Given the description of an element on the screen output the (x, y) to click on. 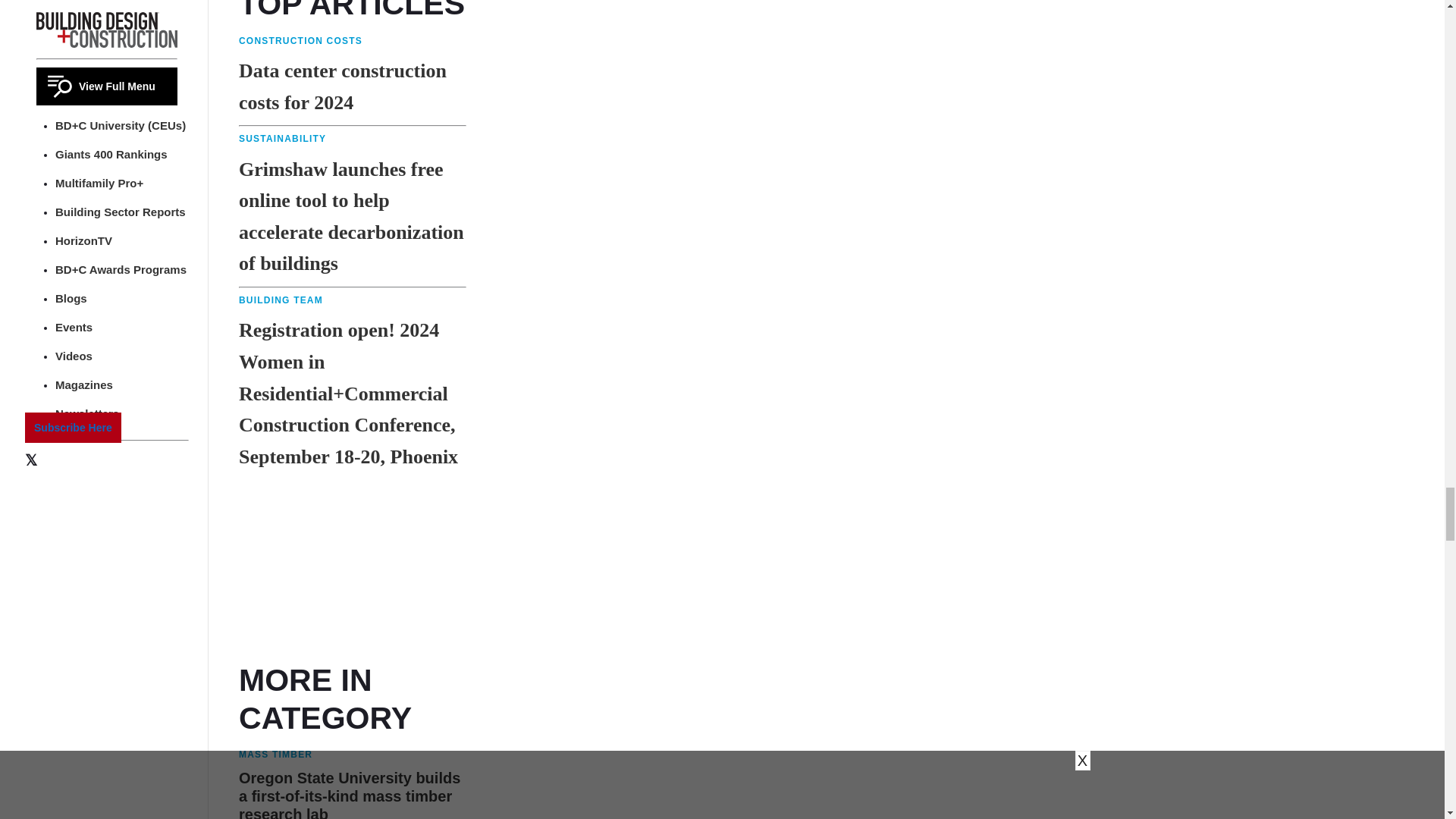
3rd party ad content (351, 566)
